Given the description of an element on the screen output the (x, y) to click on. 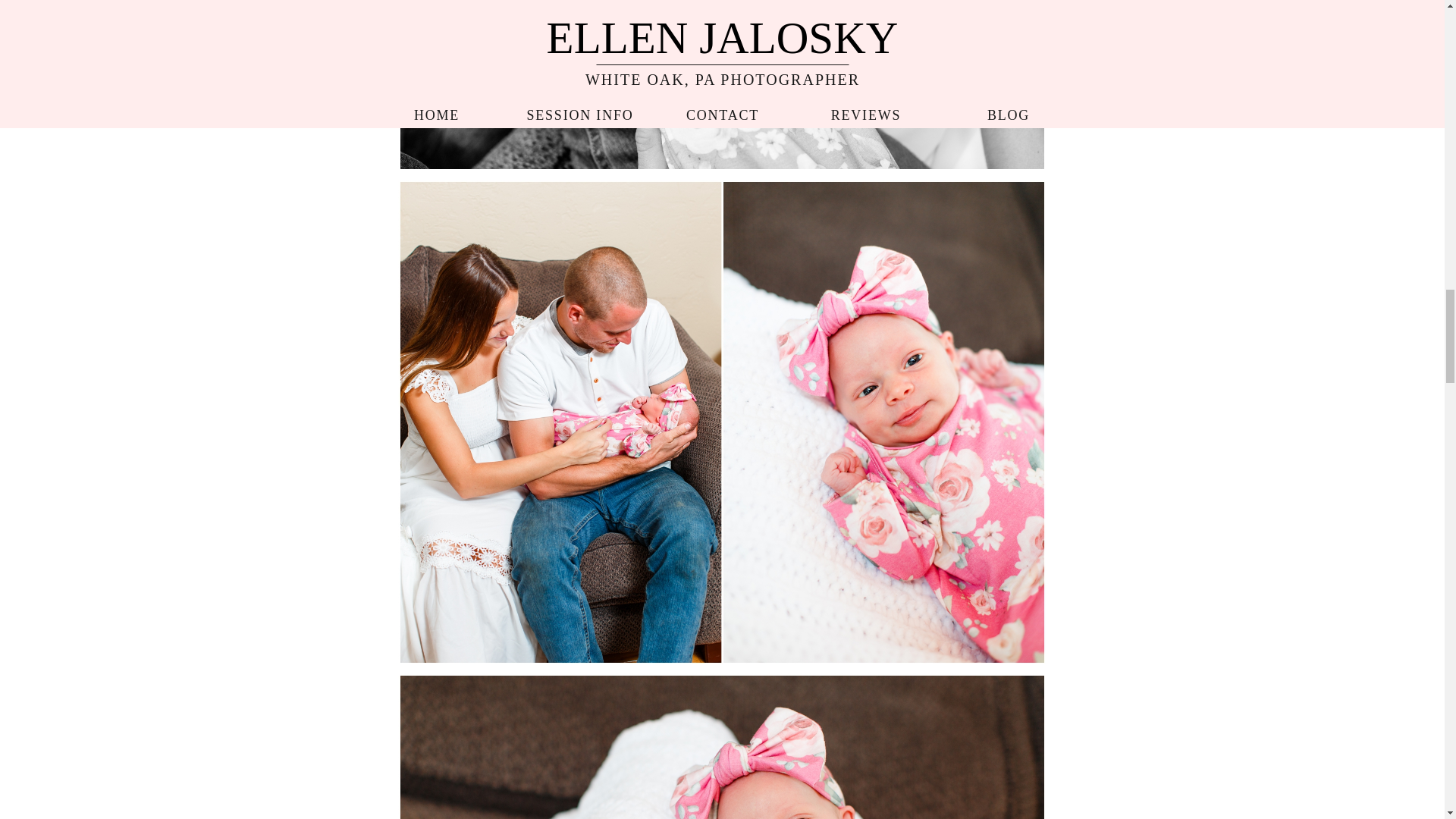
At Home Newborn Photos (721, 85)
At Home Newborn Photos (721, 746)
